Given the description of an element on the screen output the (x, y) to click on. 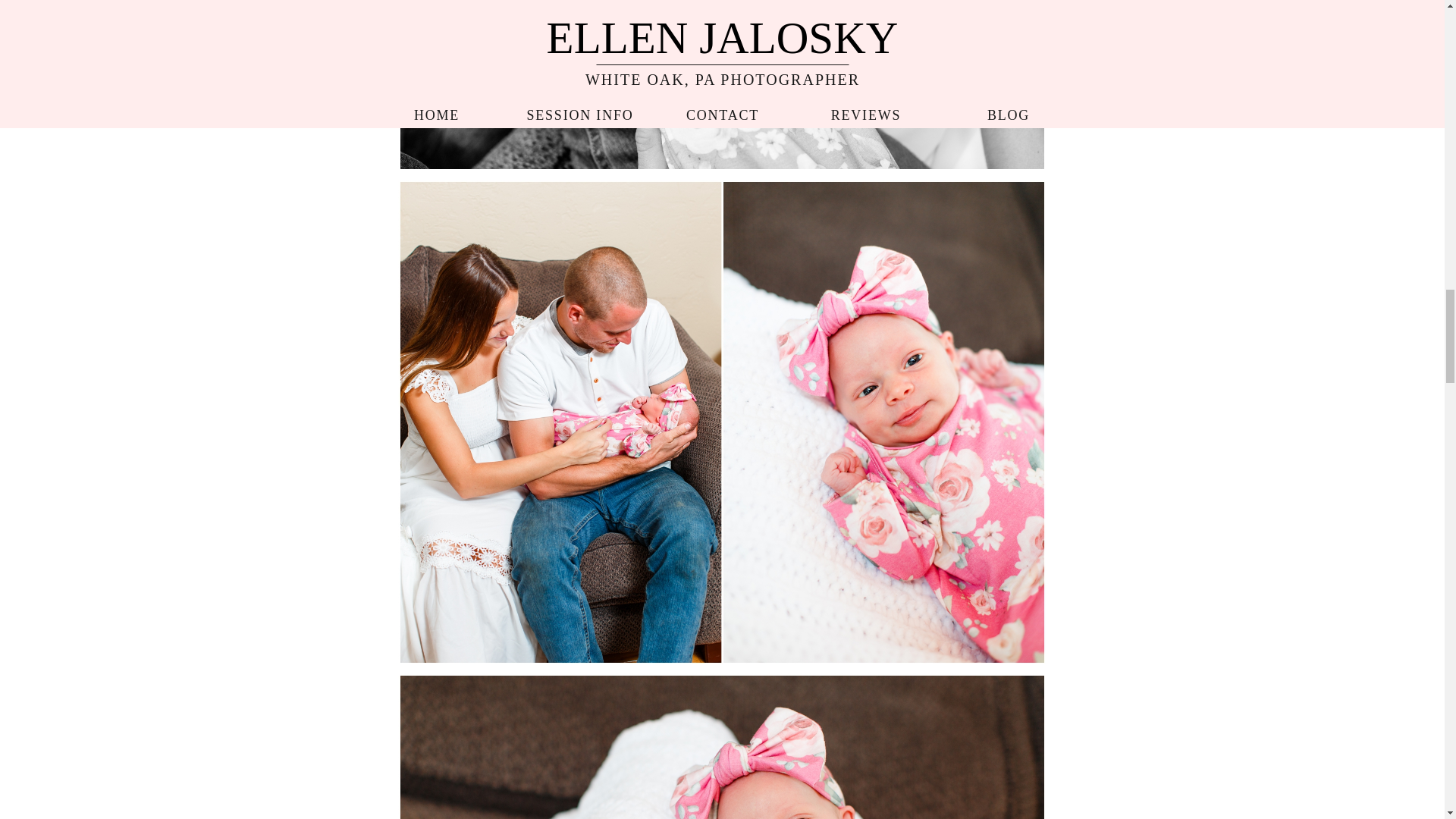
At Home Newborn Photos (721, 85)
At Home Newborn Photos (721, 746)
